Given the description of an element on the screen output the (x, y) to click on. 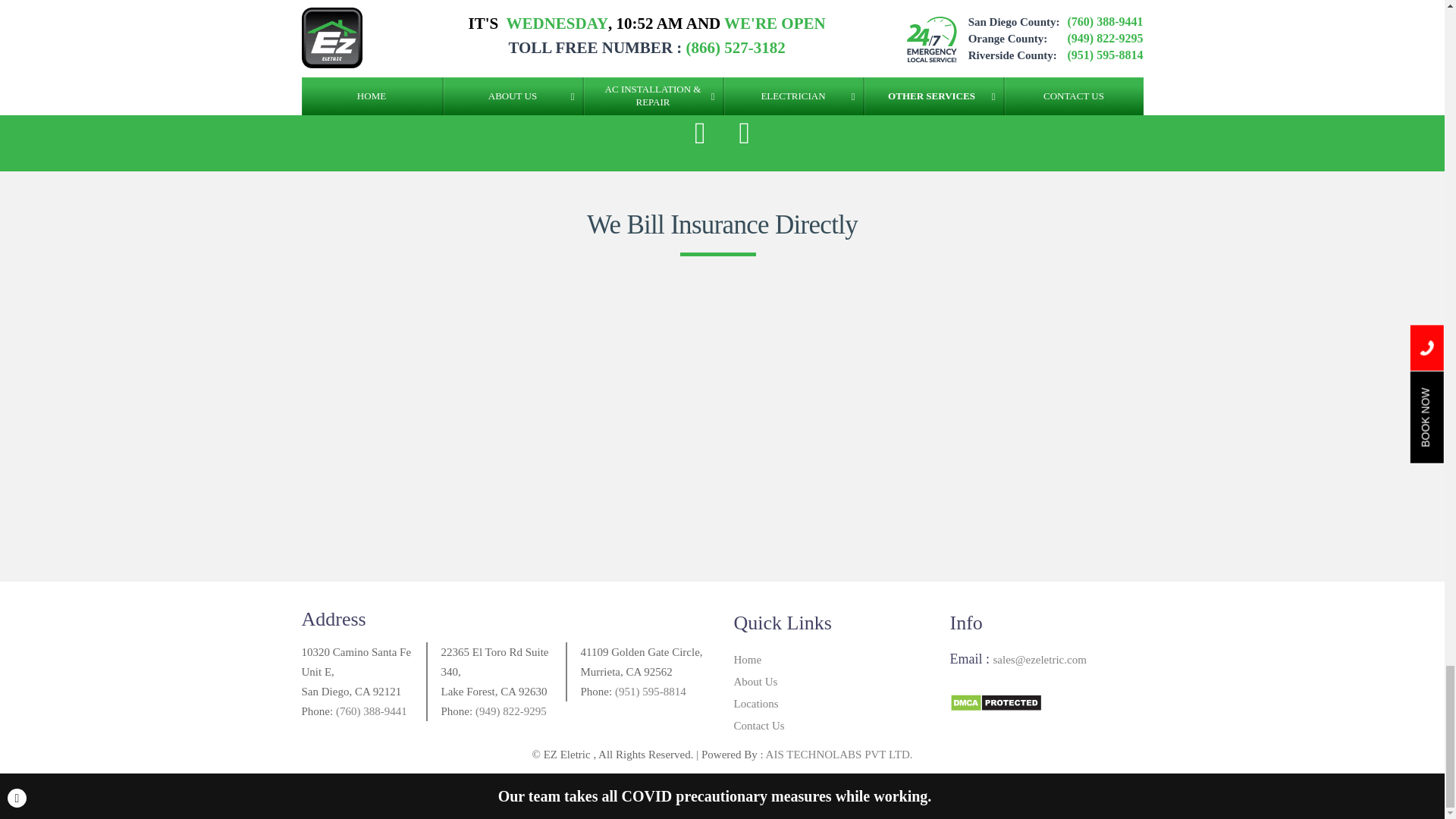
DMCA.com Protection Status (995, 701)
